Given the description of an element on the screen output the (x, y) to click on. 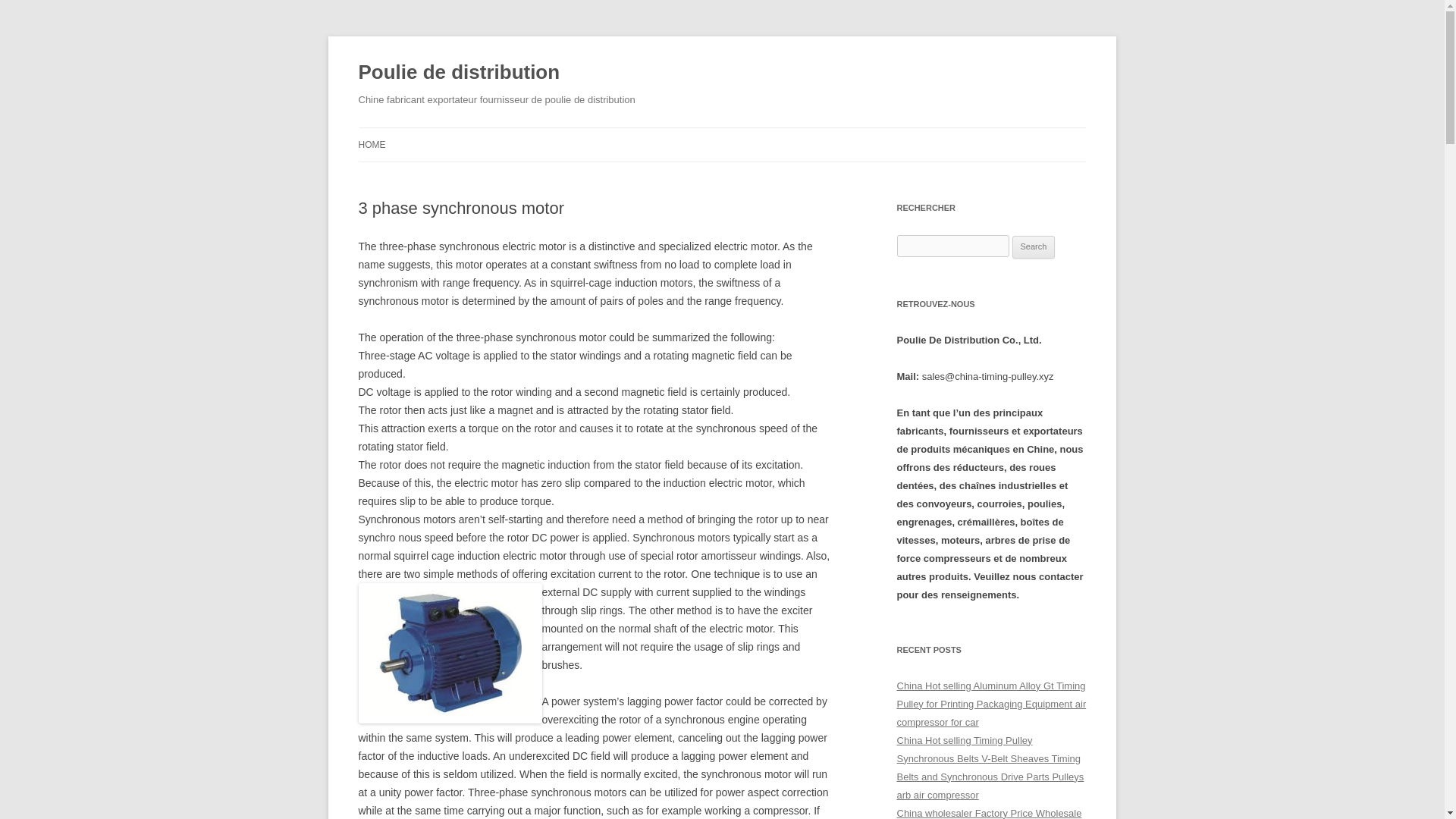
Search (1033, 246)
Poulie de distribution (458, 72)
Search (1033, 246)
HOME (371, 144)
